Given the description of an element on the screen output the (x, y) to click on. 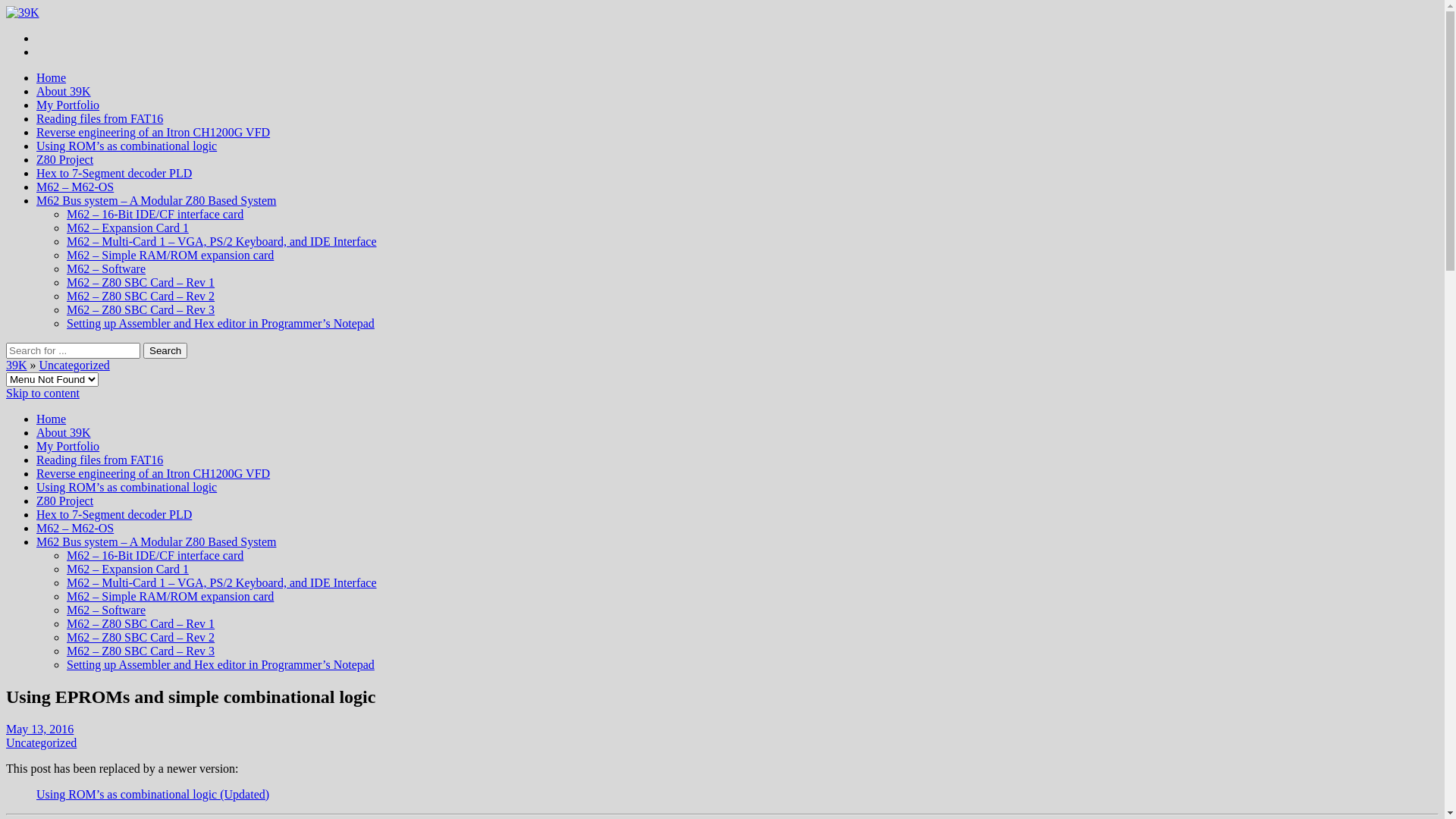
My Portfolio Element type: text (67, 445)
Home Element type: text (50, 418)
Hex to 7-Segment decoder PLD Element type: text (113, 514)
Search Element type: text (165, 350)
Reverse engineering of an Itron CH1200G VFD Element type: text (152, 473)
Reverse engineering of an Itron CH1200G VFD Element type: text (152, 131)
About 39K Element type: text (63, 90)
Z80 Project Element type: text (64, 159)
Uncategorized Element type: text (74, 364)
May 13, 2016 Element type: text (39, 728)
39K Element type: hover (22, 12)
My Portfolio Element type: text (67, 104)
Uncategorized Element type: text (41, 742)
Reading files from FAT16 Element type: text (99, 118)
About 39K Element type: text (63, 432)
Z80 Project Element type: text (64, 500)
Skip to content Element type: text (42, 392)
39K Element type: text (16, 364)
Home Element type: text (50, 77)
Hex to 7-Segment decoder PLD Element type: text (113, 172)
Reading files from FAT16 Element type: text (99, 459)
